Given the description of an element on the screen output the (x, y) to click on. 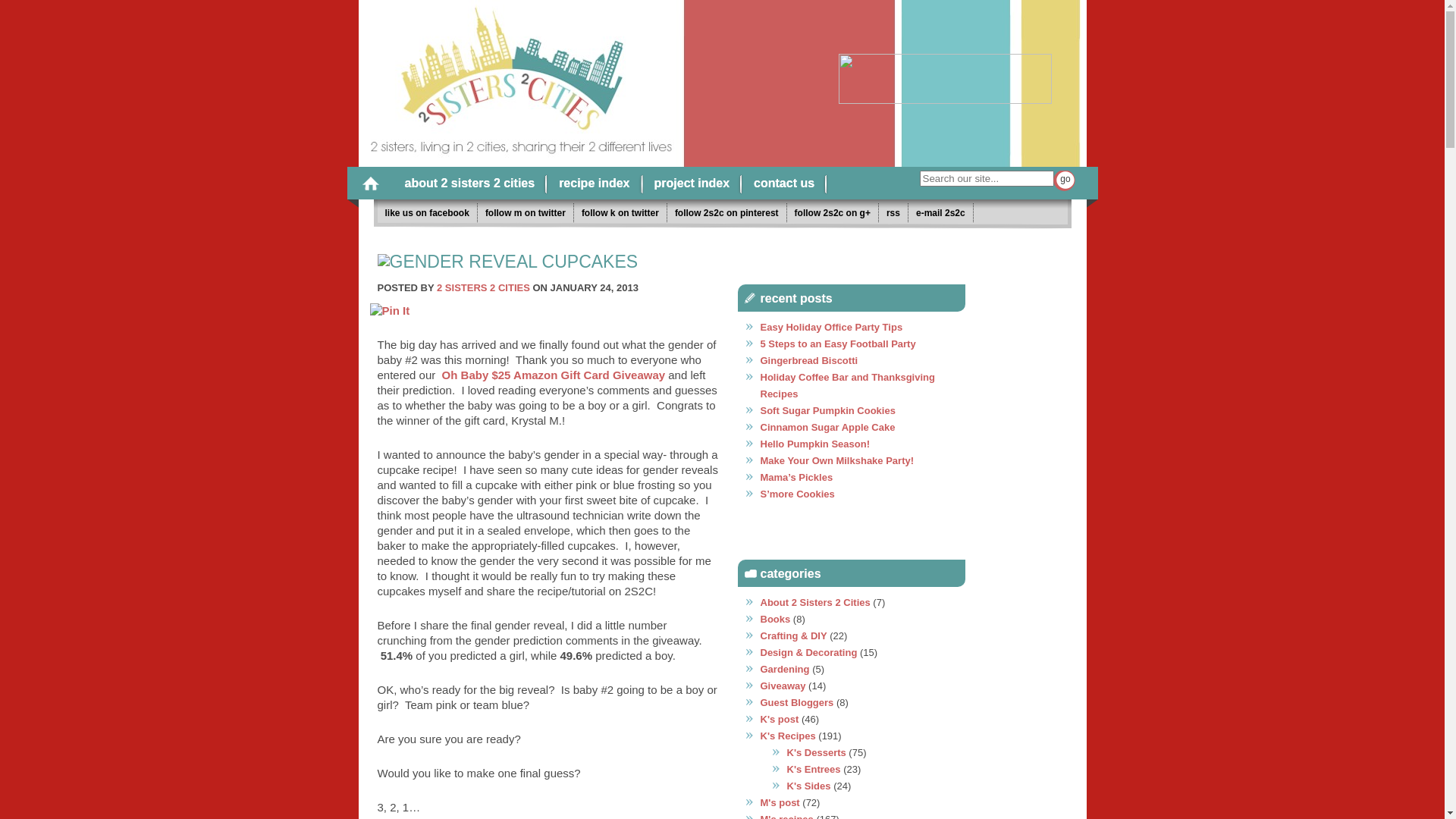
K's Sides Element type: text (809, 785)
About 2 Sisters 2 Cities Element type: text (814, 602)
about 2 sisters 2 cities Element type: text (470, 183)
M's post Element type: text (779, 802)
rss Element type: text (893, 212)
Hello Pumpkin Season! Element type: text (814, 443)
Easy Holiday Office Party Tips Element type: text (830, 326)
Gender Reveal Cupcakes Element type: hover (507, 261)
Books Element type: text (774, 618)
Go Element type: text (1063, 180)
2 Sisters 2 Cities Element type: text (567, 78)
like us on facebook Element type: text (427, 212)
K's Desserts Element type: text (816, 752)
5 Steps to an Easy Football Party Element type: text (837, 343)
Pin It Element type: hover (389, 310)
e-mail 2s2c Element type: text (940, 212)
recipe index Element type: text (594, 183)
contact us Element type: text (784, 183)
Giveaway Element type: text (782, 685)
Make Your Own Milkshake Party! Element type: text (836, 460)
Gardening Element type: text (784, 668)
follow 2s2c on g+ Element type: text (832, 212)
Guest Bloggers Element type: text (796, 702)
follow m on twitter Element type: text (525, 212)
Oh Baby $25 Amazon Gift Card Giveaway Element type: text (553, 374)
K's Recipes Element type: text (787, 735)
Soft Sugar Pumpkin Cookies Element type: text (826, 410)
Design & Decorating Element type: text (807, 652)
K's Entrees Element type: text (813, 769)
Holiday Coffee Bar and Thanksgiving Recipes Element type: text (846, 385)
2 SISTERS 2 CITIES Element type: text (483, 287)
Cinnamon Sugar Apple Cake Element type: text (826, 427)
Gingerbread Biscotti Element type: text (808, 360)
follow k on twitter Element type: text (620, 212)
Crafting & DIY Element type: text (792, 635)
follow 2s2c on pinterest Element type: text (727, 212)
K's post Element type: text (778, 718)
project index Element type: text (691, 183)
